Given the description of an element on the screen output the (x, y) to click on. 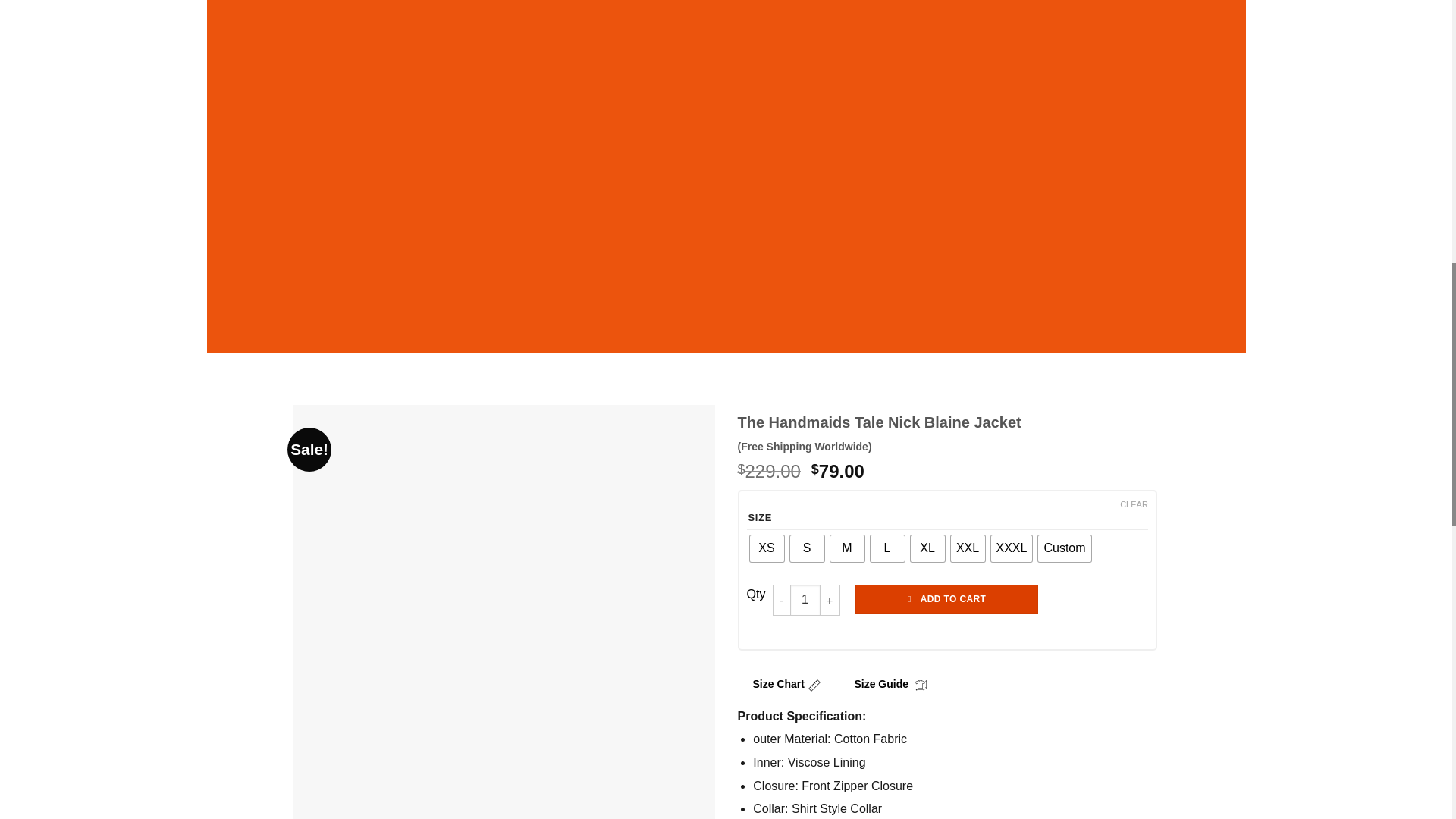
1 (805, 599)
XXL (967, 548)
XS (766, 548)
L (887, 548)
Custom (1064, 548)
M (846, 548)
XXXL (1011, 548)
XL (926, 548)
